Given the description of an element on the screen output the (x, y) to click on. 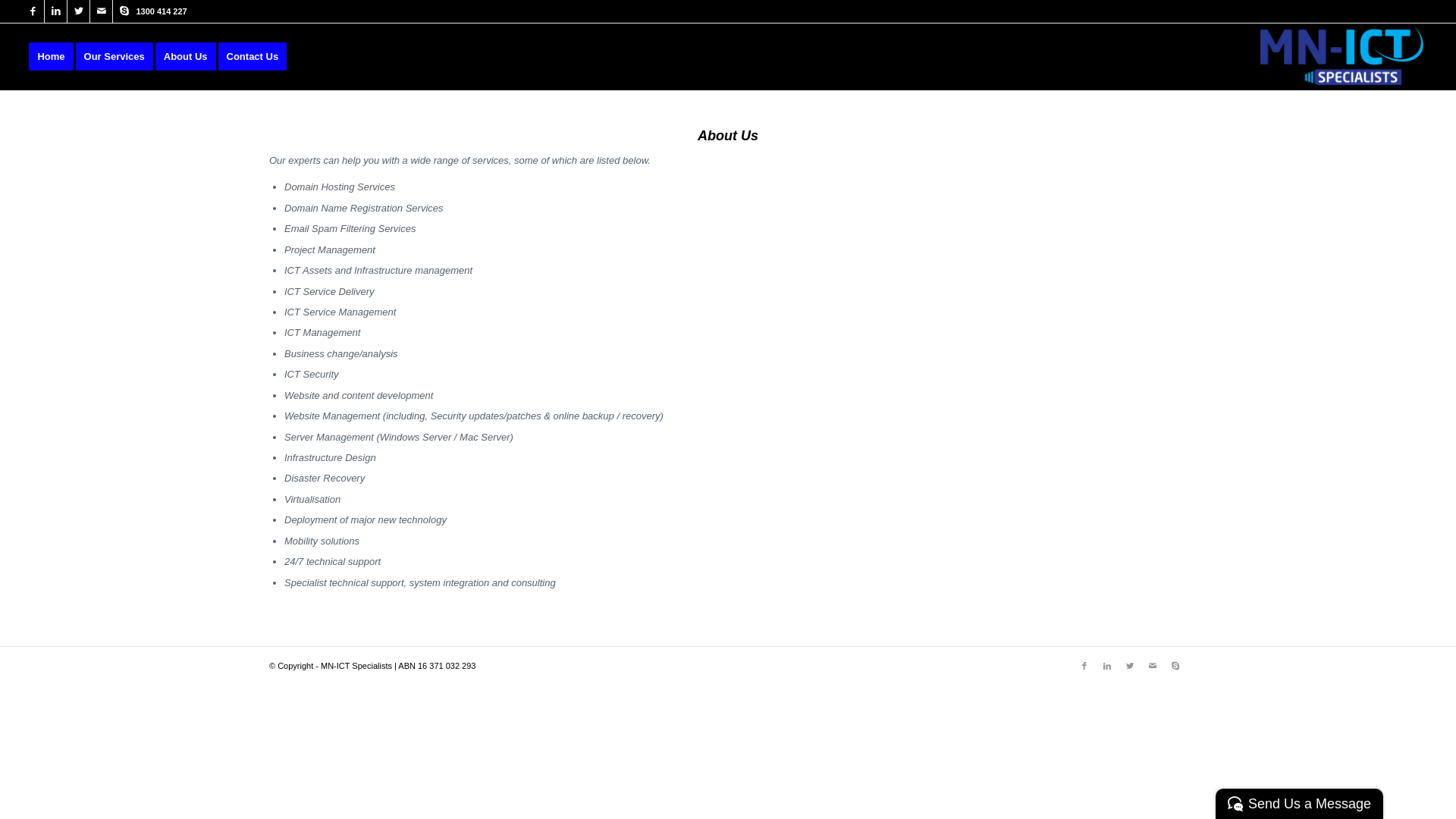
Our Services Element type: text (119, 56)
MNICTSpecialists Element type: hover (1339, 56)
Skype Element type: hover (123, 11)
Mail Element type: hover (101, 11)
Facebook Element type: hover (1084, 665)
Twitter Element type: hover (1129, 665)
Contact Us Element type: text (257, 56)
LinkedIn Element type: hover (55, 11)
Facebook Element type: hover (32, 11)
Twitter Element type: hover (78, 11)
Mail Element type: hover (1152, 665)
Home Element type: text (50, 56)
About Us Element type: text (190, 56)
Skype Element type: hover (1175, 665)
LinkedIn Element type: hover (1106, 665)
